Given the description of an element on the screen output the (x, y) to click on. 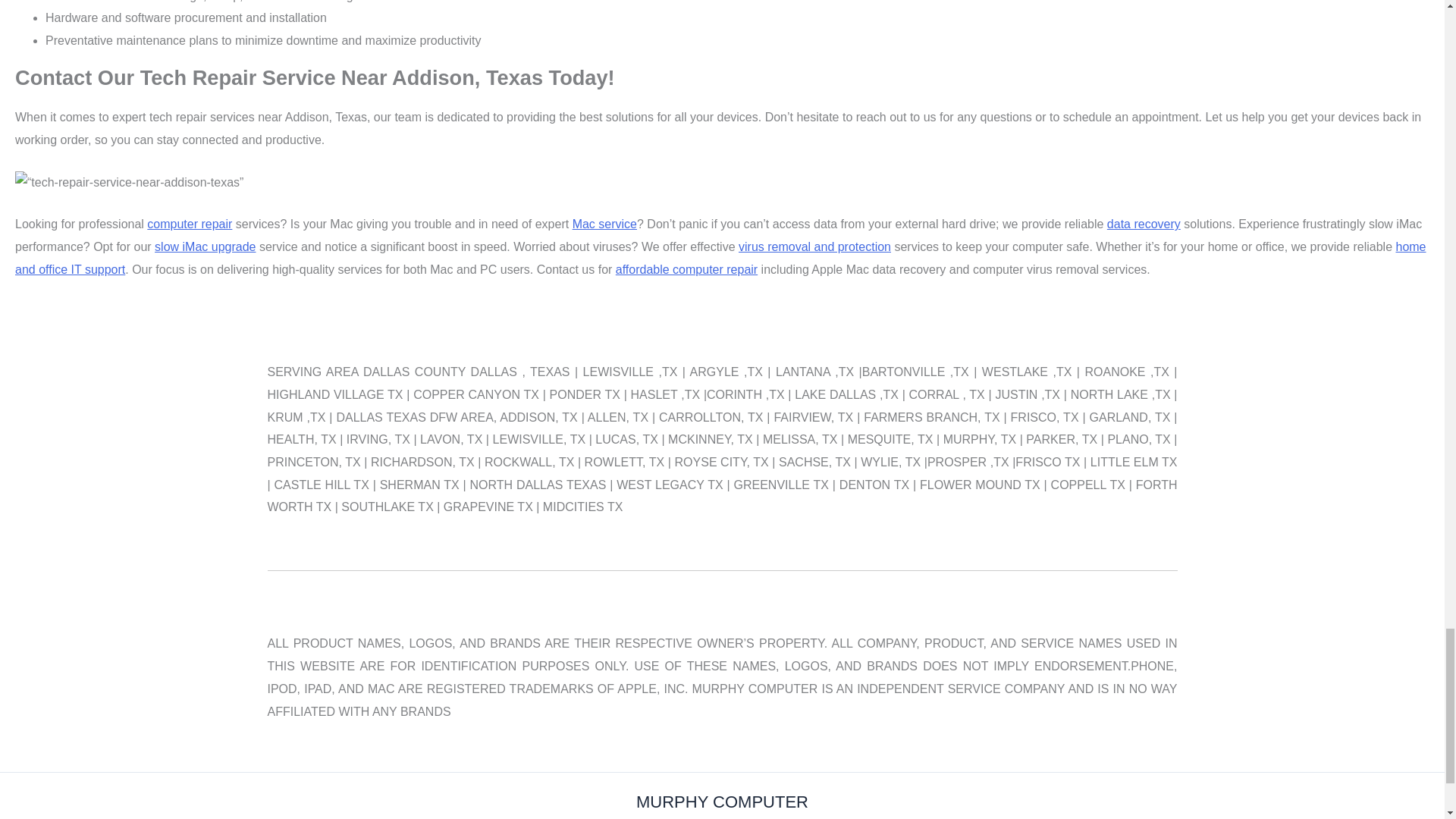
Mac service (604, 223)
slow iMac upgrade (205, 246)
computer repair (189, 223)
affordable computer repair (686, 269)
home and office IT support (720, 258)
virus removal and protection (814, 246)
data recovery (1143, 223)
